Given the description of an element on the screen output the (x, y) to click on. 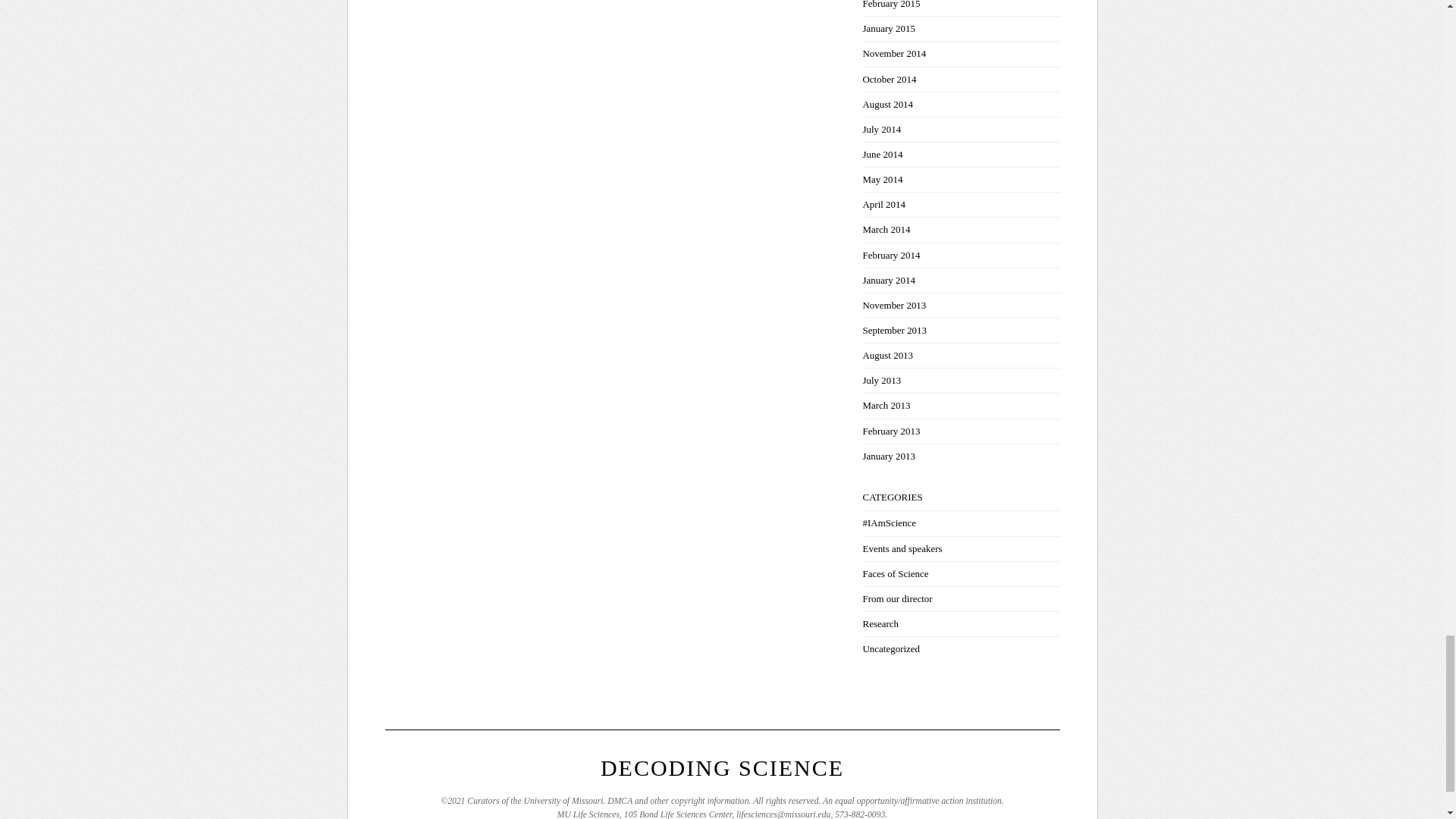
Decoding Science (721, 767)
